Given the description of an element on the screen output the (x, y) to click on. 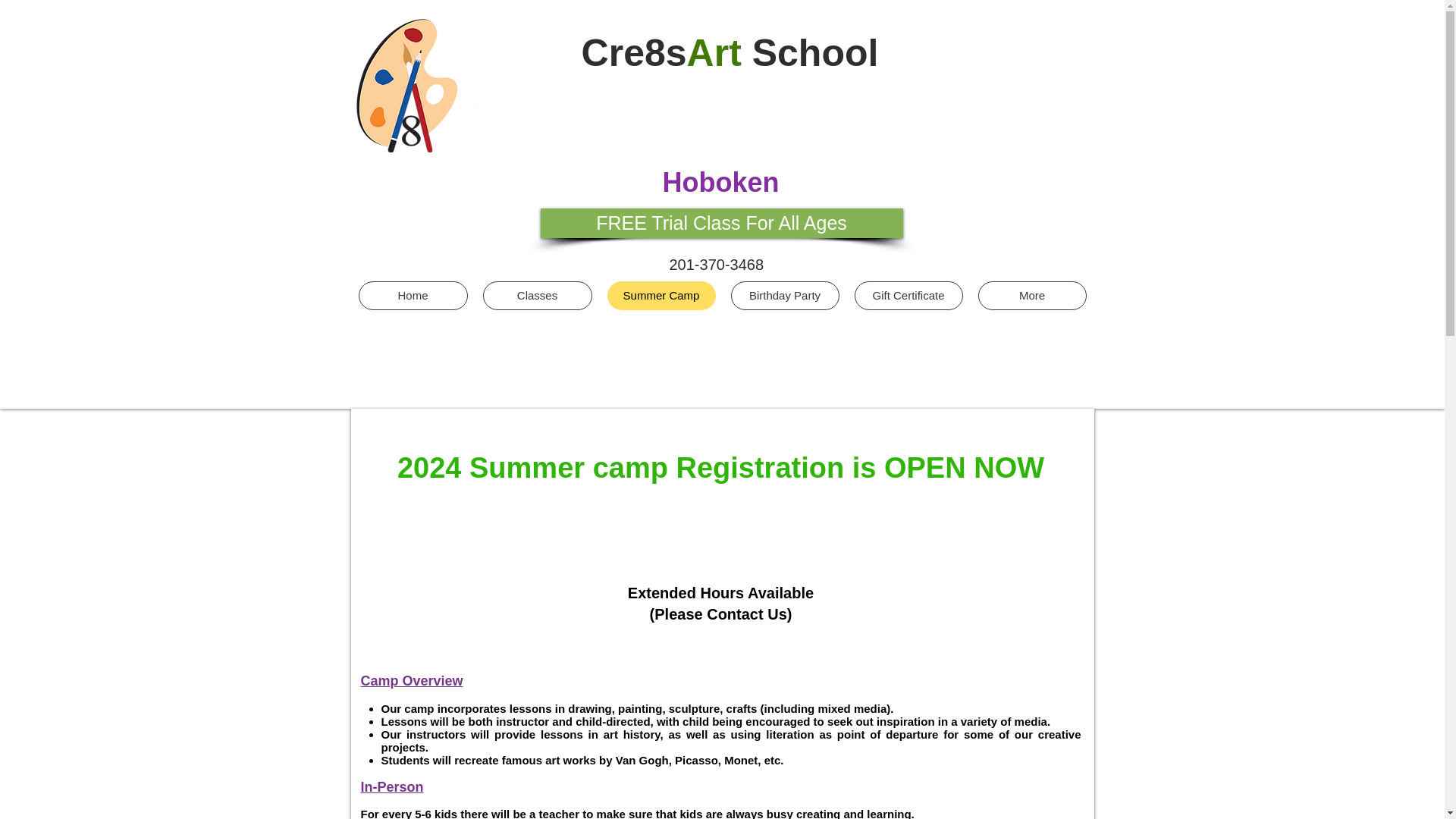
Summer Camp (660, 295)
FREE Trial Class For All Ages (721, 223)
Birthday Party (785, 295)
Gift Certificate (907, 295)
Classes (536, 295)
Home (412, 295)
